Given the description of an element on the screen output the (x, y) to click on. 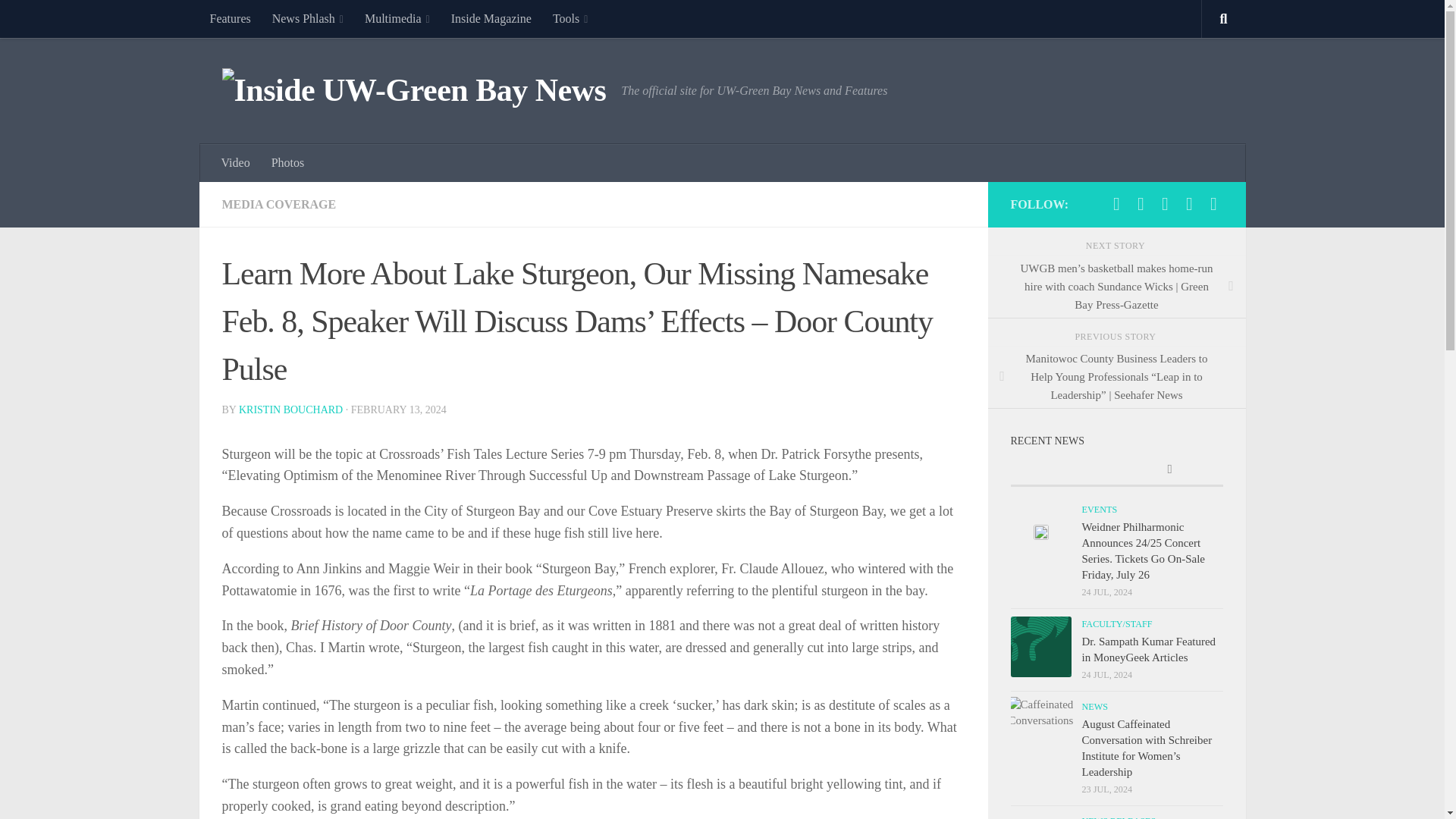
Inside Magazine (491, 18)
MEDIA COVERAGE (278, 204)
Email (1213, 203)
KRISTIN BOUCHARD (290, 409)
YouTube (1188, 203)
Recent Posts (1063, 470)
Twitter (1140, 203)
Facebook (1115, 203)
Features (229, 18)
Tags (1169, 470)
Multimedia (397, 18)
Photos (287, 162)
Posts by Kristin Bouchard (290, 409)
News Phlash (307, 18)
Skip to content (59, 20)
